Given the description of an element on the screen output the (x, y) to click on. 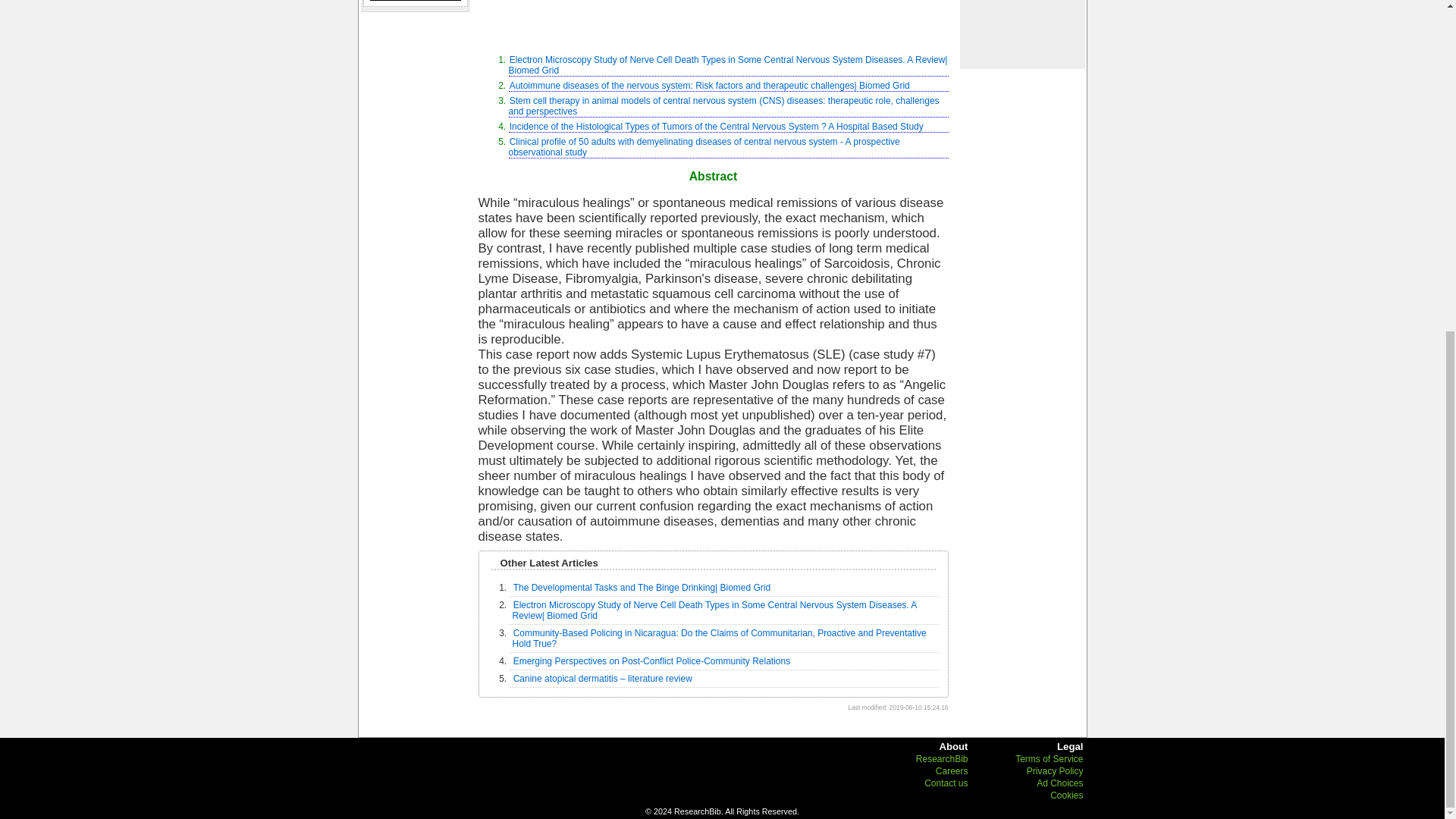
Terms of Service (1048, 758)
ResearchBib (941, 758)
Careers (952, 770)
Ad Choices (1059, 783)
Contact us (946, 783)
Advertisement (1021, 33)
Advertisement (712, 20)
Cookies (1066, 795)
Privacy Policy (1054, 770)
